Given the description of an element on the screen output the (x, y) to click on. 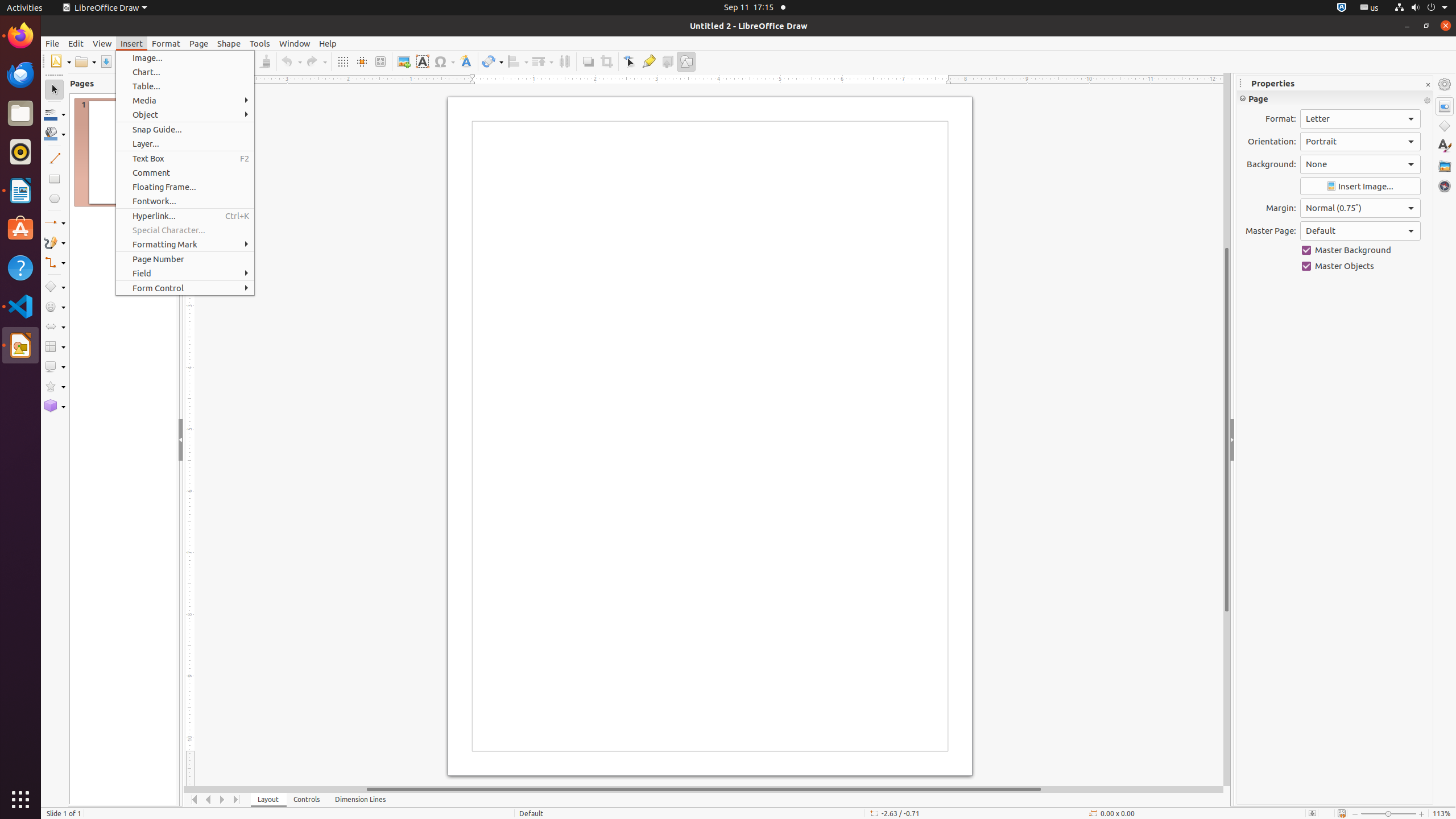
:1.21/StatusNotifierItem Element type: menu (1369, 7)
New Element type: push-button (59, 61)
Format Element type: menu (165, 43)
Files Element type: push-button (20, 113)
Insert Image Element type: push-button (1360, 186)
